Given the description of an element on the screen output the (x, y) to click on. 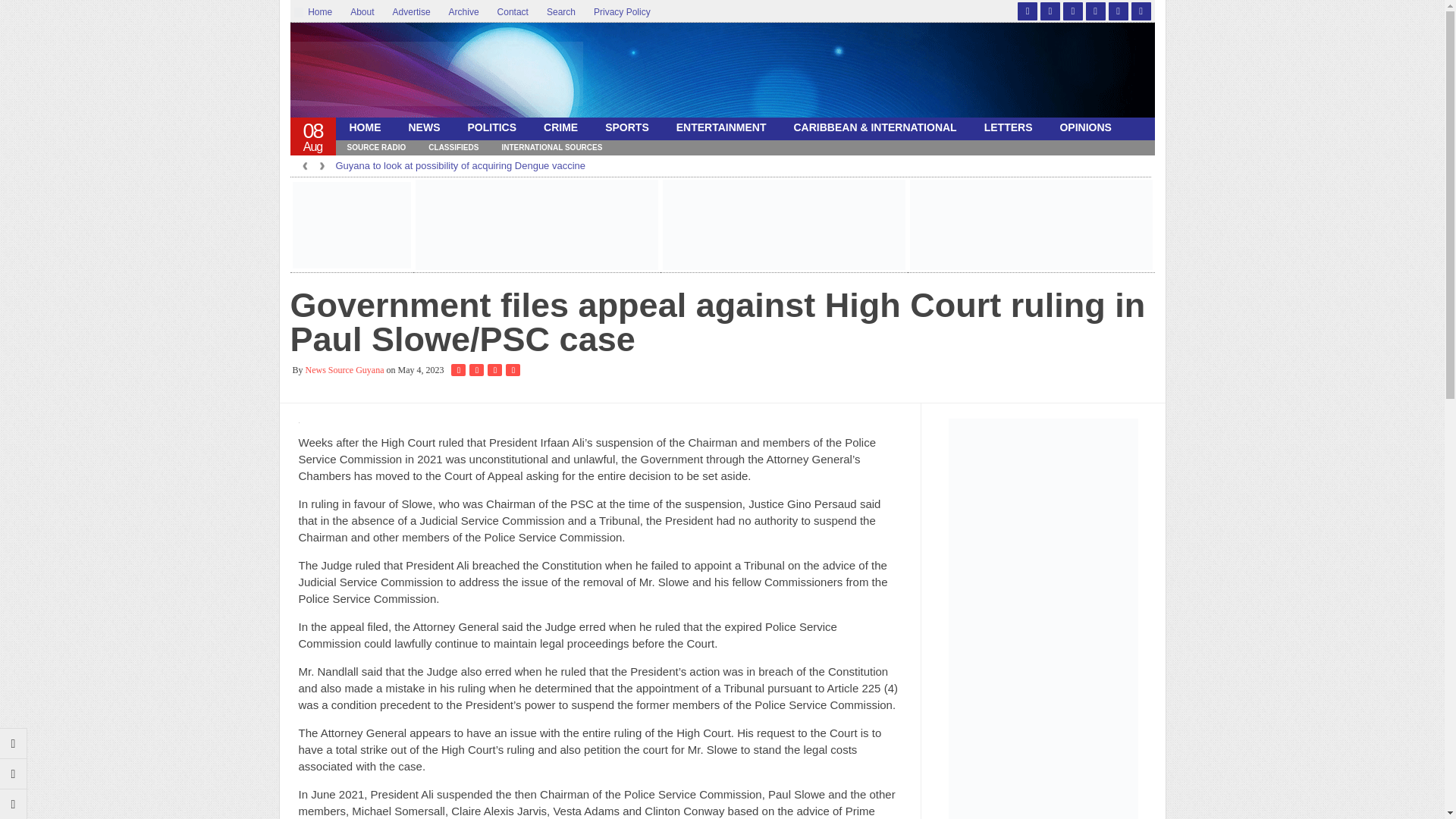
SOURCE RADIO (375, 147)
SPORTS (626, 127)
About (361, 12)
CLASSIFIEDS (452, 147)
News Source Guyana (435, 73)
Search (561, 12)
Guyana to look at possibility of acquiring Dengue vaccine (459, 165)
Privacy Policy (622, 12)
ENTERTAINMENT (721, 127)
